Given the description of an element on the screen output the (x, y) to click on. 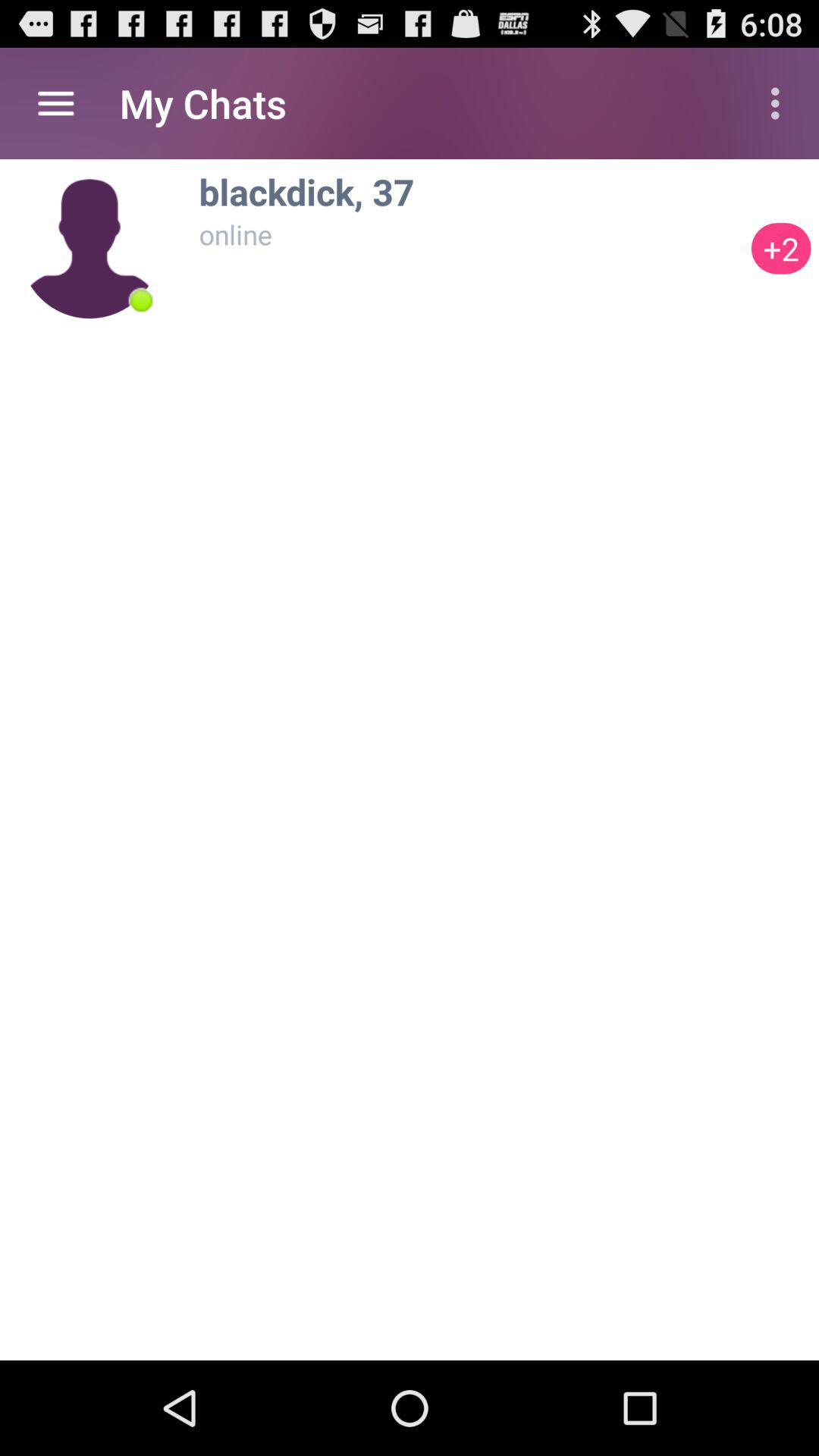
tap the item to the left of +2 item (471, 191)
